Given the description of an element on the screen output the (x, y) to click on. 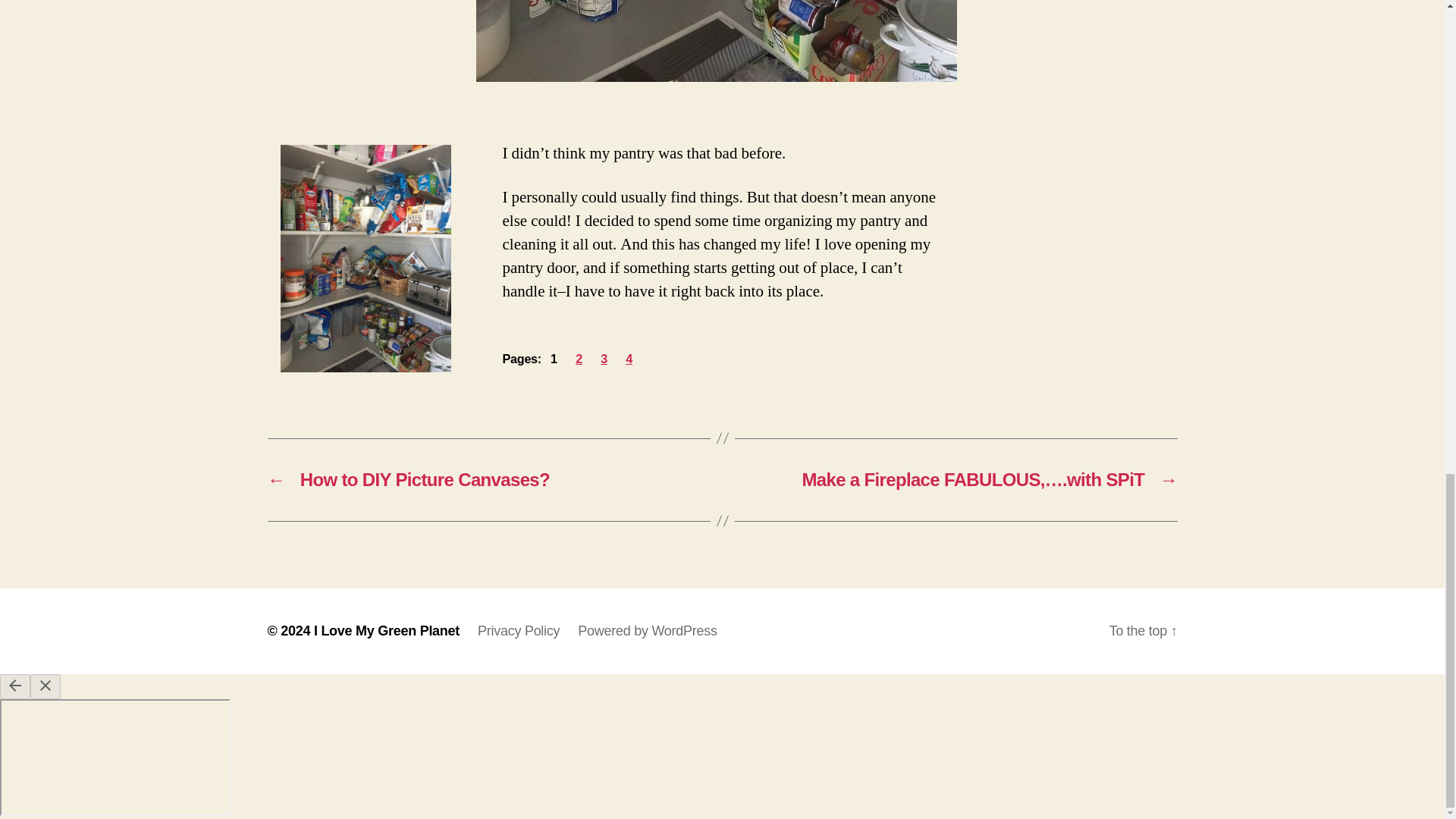
Powered by WordPress (647, 630)
Privacy Policy (518, 630)
I Love My Green Planet (387, 630)
